Given the description of an element on the screen output the (x, y) to click on. 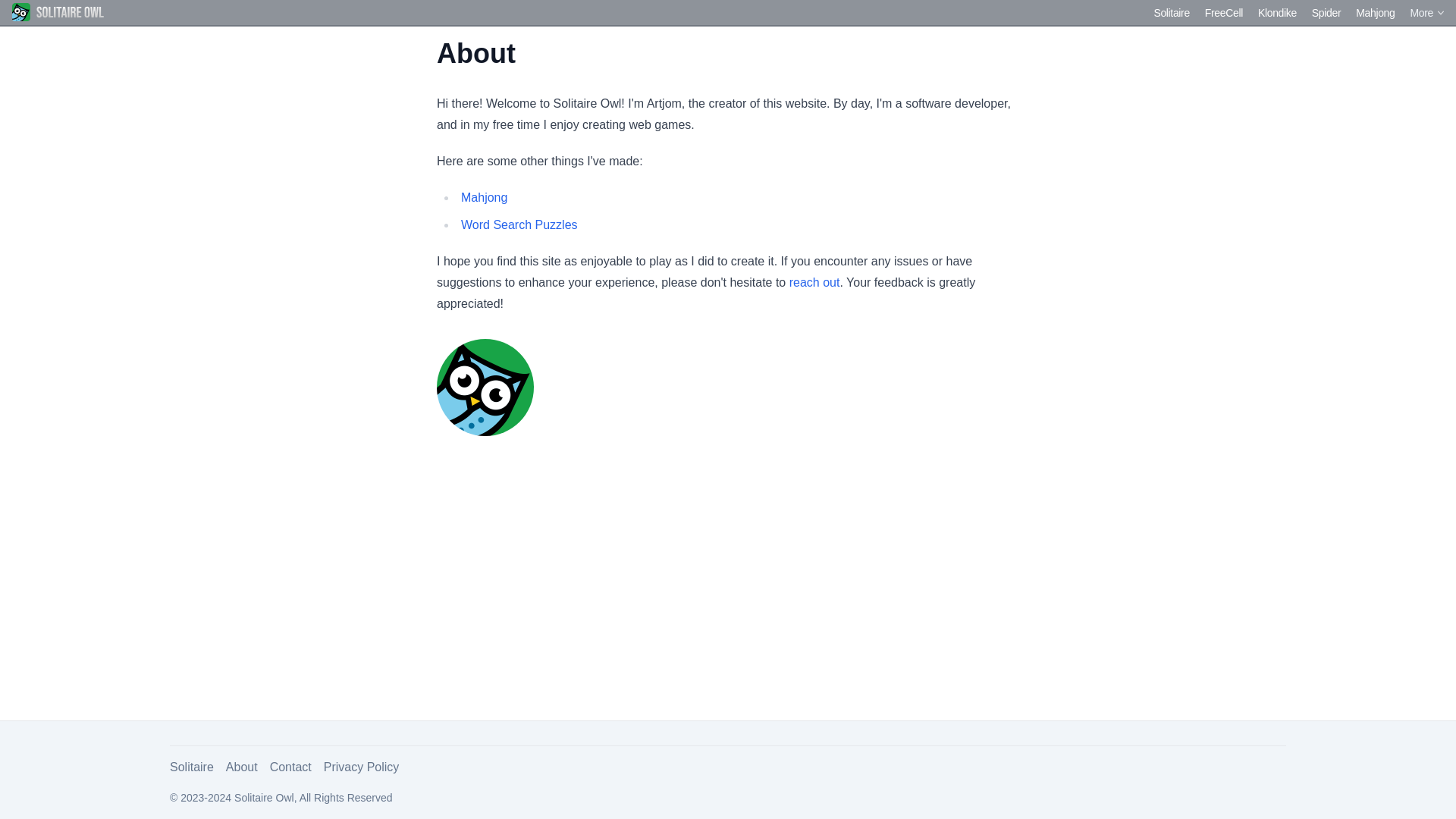
Contact (290, 766)
Solitaire (1171, 11)
Privacy Policy (360, 766)
About (241, 766)
Solitaire (192, 766)
Word Search Puzzles (519, 224)
Mahjong (1374, 11)
reach out (814, 282)
More (1427, 11)
Spider (1325, 11)
Mahjong (483, 196)
FreeCell (1224, 11)
Klondike (1277, 11)
